Given the description of an element on the screen output the (x, y) to click on. 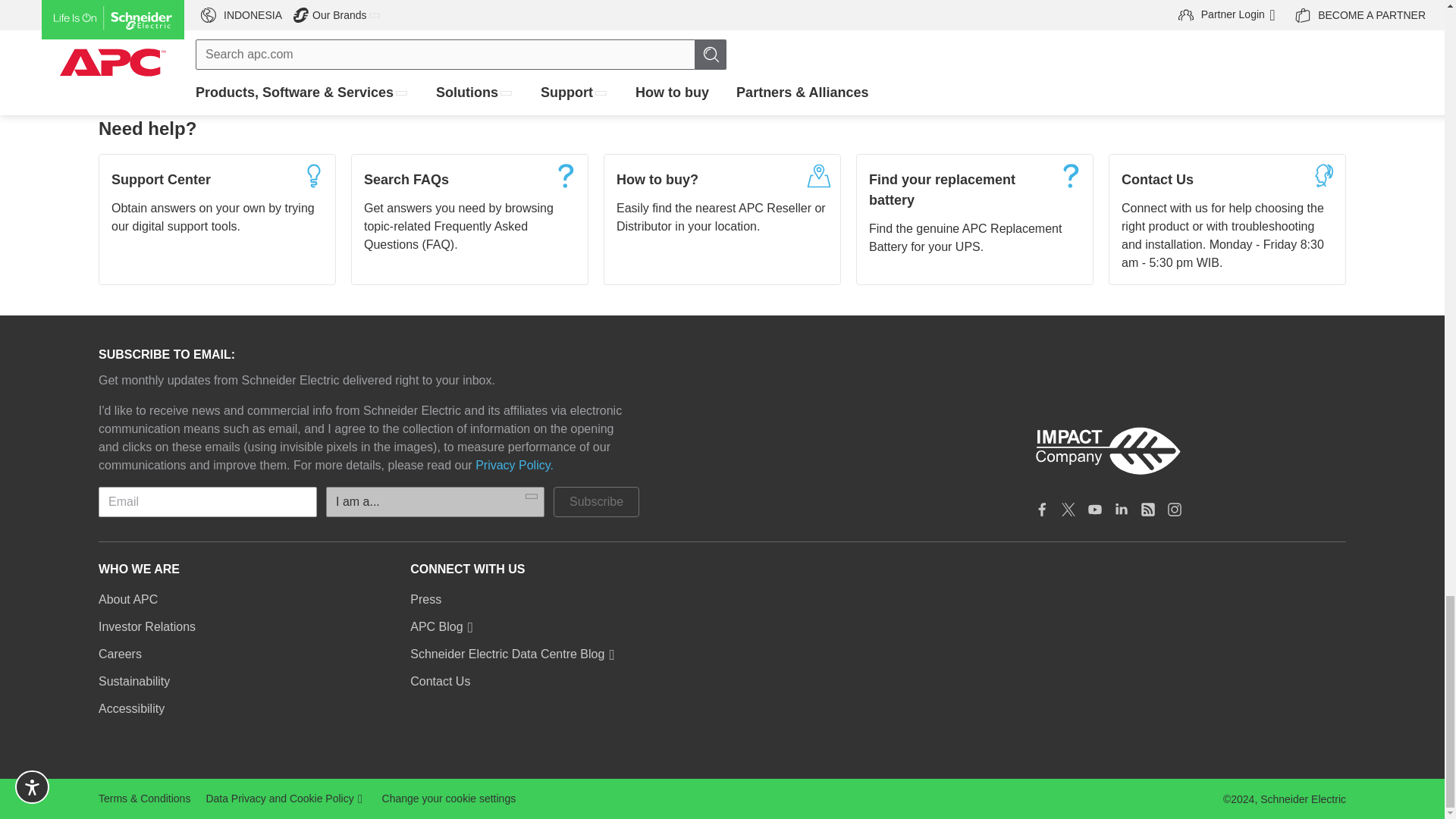
Sustainability (1189, 451)
Twitter (1068, 509)
Instagram (1174, 509)
RSS (1148, 509)
Sustainability (134, 681)
Accessibility (131, 709)
Facebook (1041, 509)
Careers (120, 654)
Press (425, 599)
Privacy Policy. (514, 465)
Investor Relations (147, 627)
